Given the description of an element on the screen output the (x, y) to click on. 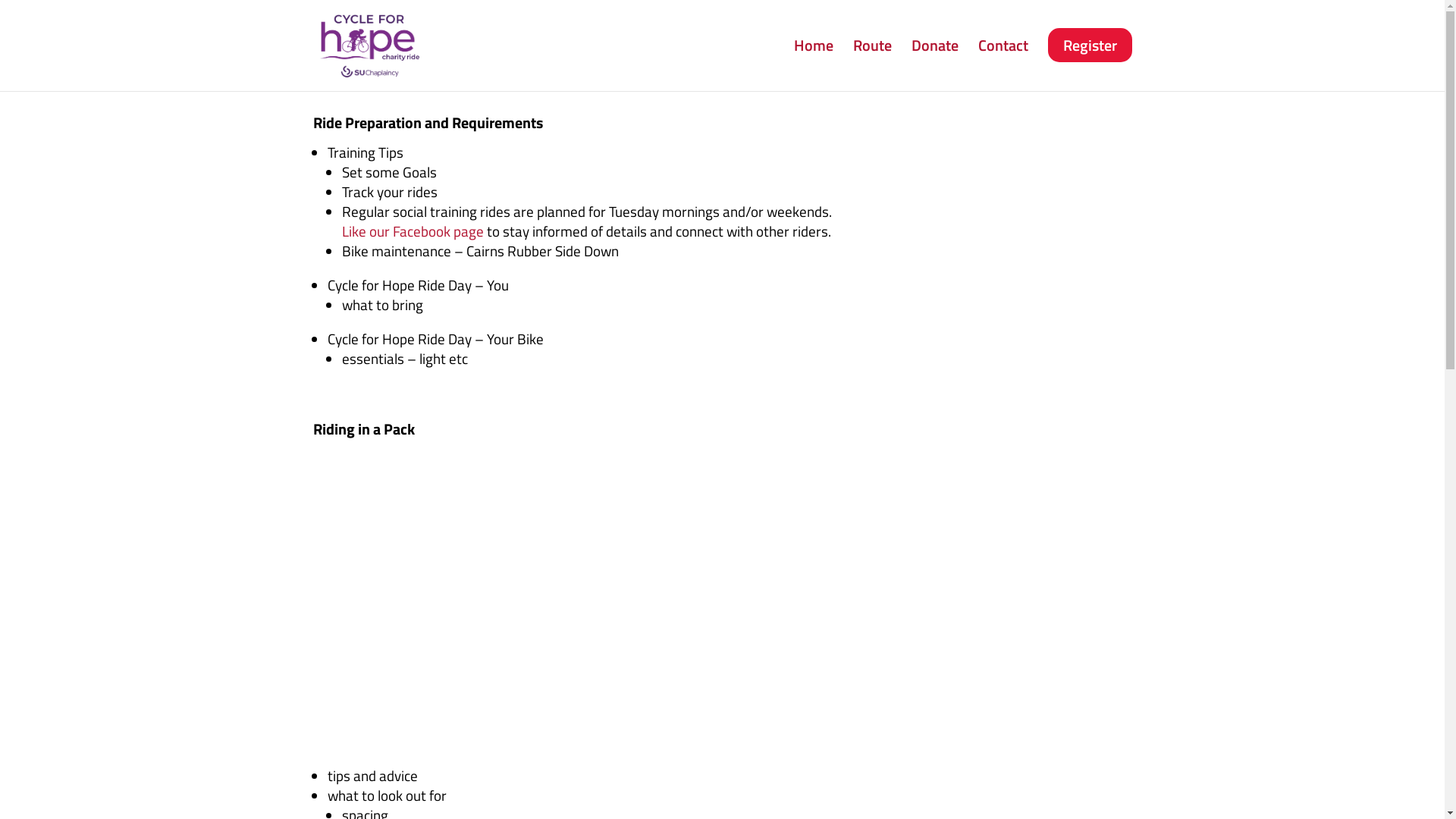
Like our Facebook page Element type: text (412, 230)
Contact Element type: text (1003, 65)
Donate Element type: text (934, 65)
Pack Cycling and Support Information for Pack Riding Element type: hover (581, 599)
Home Element type: text (812, 65)
Register Element type: text (1090, 65)
Route Element type: text (871, 65)
